Given the description of an element on the screen output the (x, y) to click on. 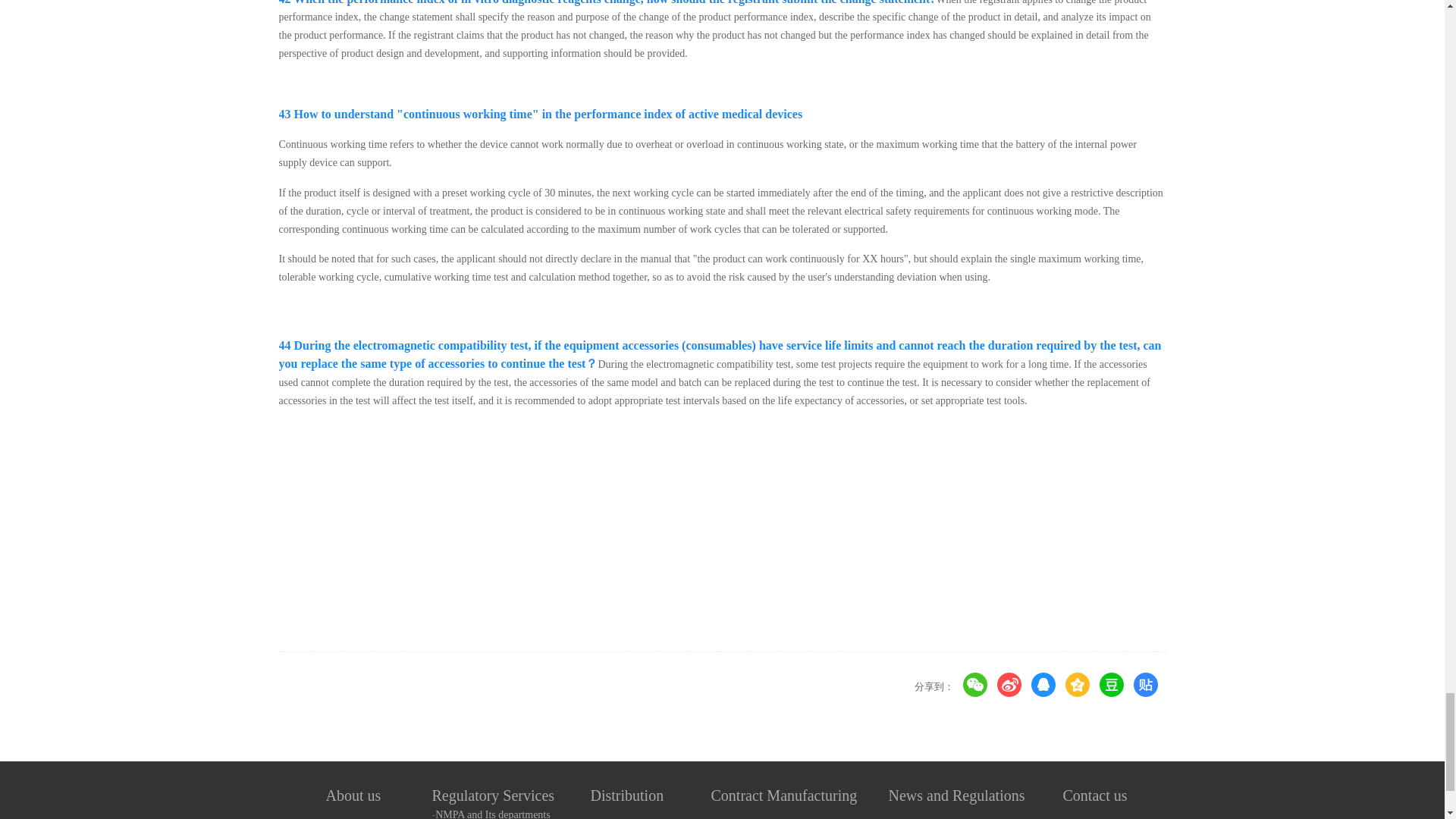
Regulatory Services (493, 795)
Contact us (1094, 795)
About us (353, 795)
Distribution (626, 795)
Contract Manufacturing (784, 795)
News and Regulations (956, 795)
